Given the description of an element on the screen output the (x, y) to click on. 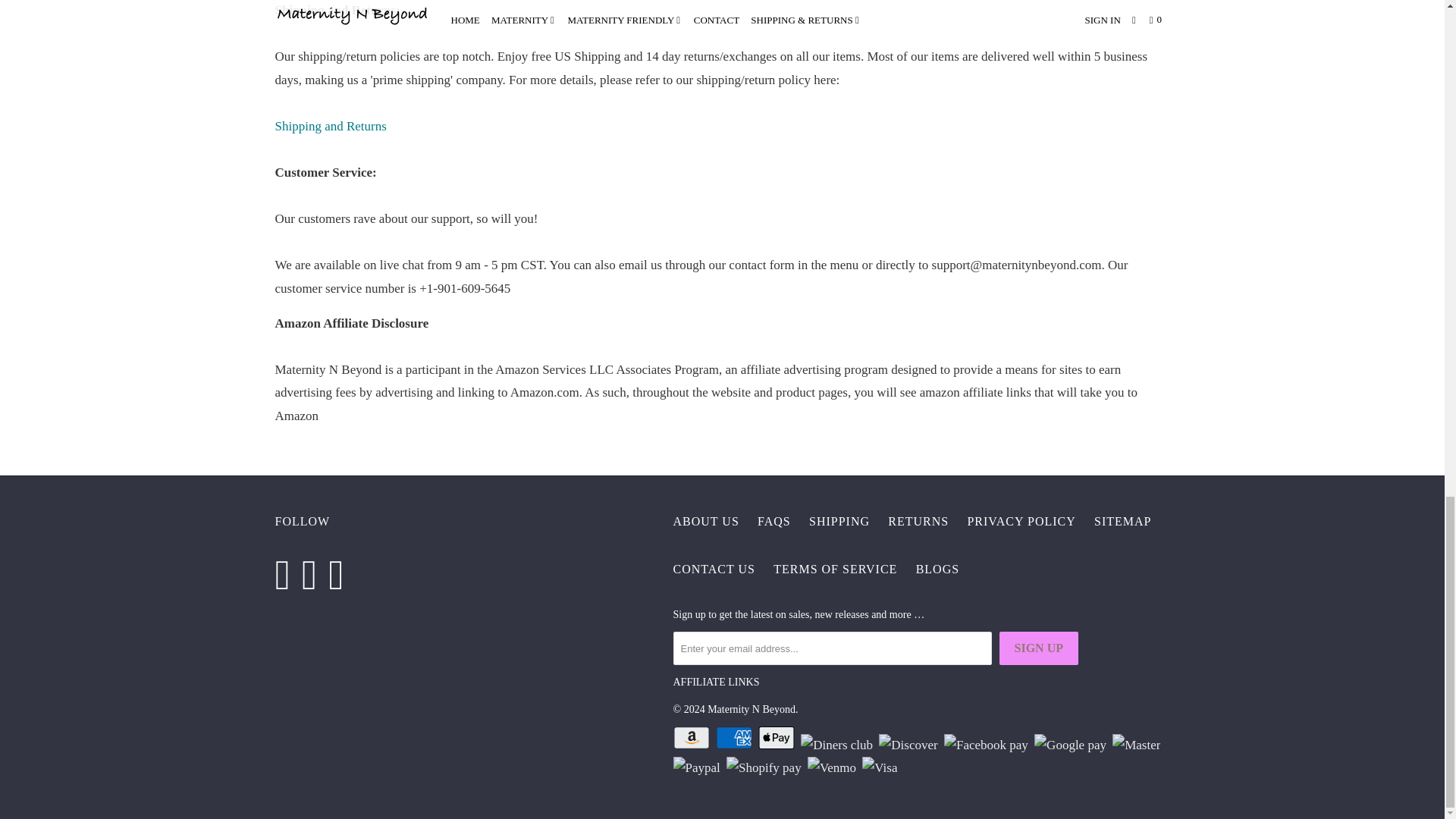
Sign Up (1038, 648)
